Given the description of an element on the screen output the (x, y) to click on. 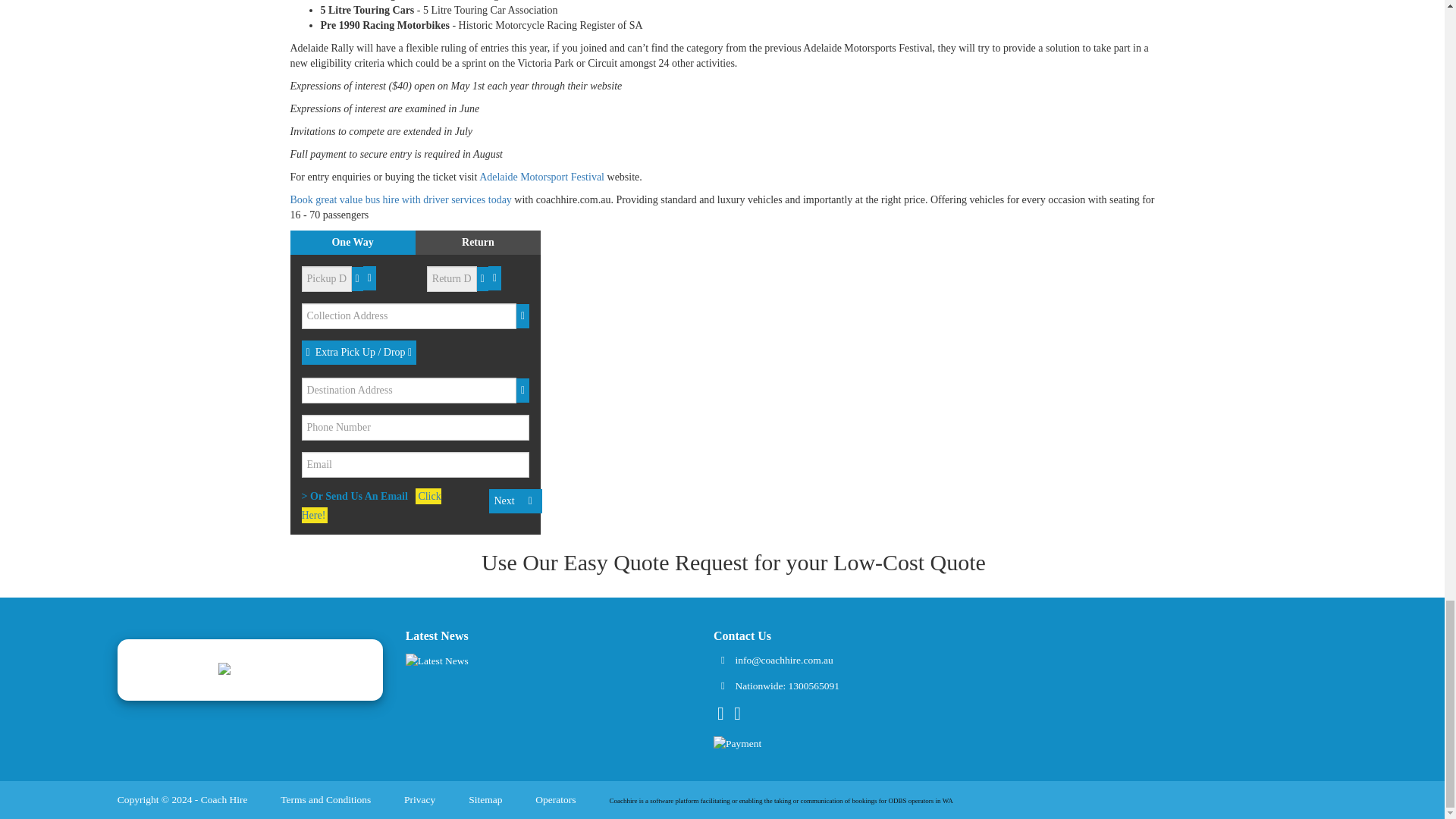
2 (466, 243)
1 (335, 243)
